Given the description of an element on the screen output the (x, y) to click on. 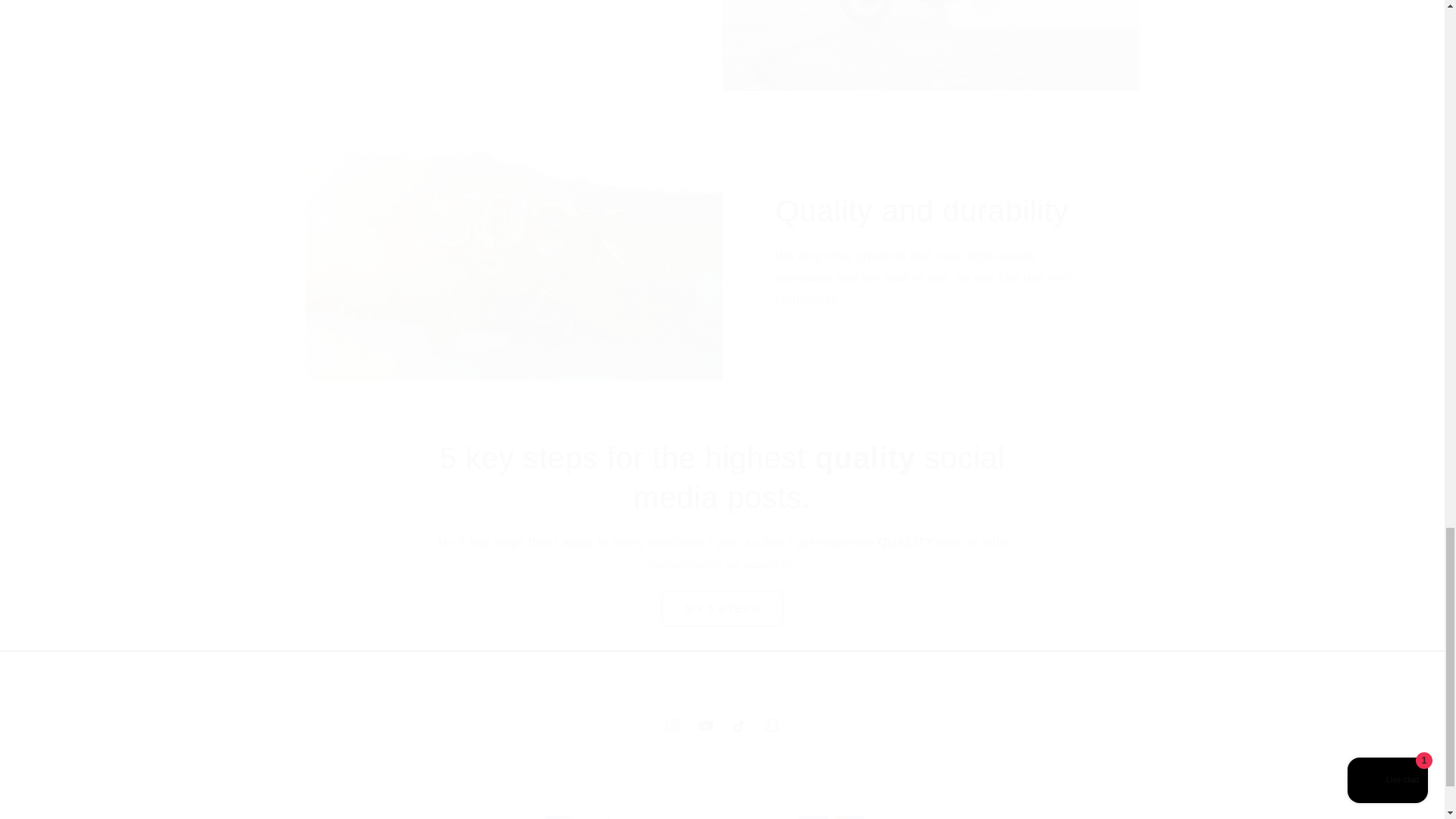
Snapchat (772, 725)
Instagram (671, 725)
MY 5 STEPS (722, 608)
MY 5 STEPS (721, 608)
YouTube (721, 725)
5 key steps for the highest quality social media posts. (705, 725)
TikTok (721, 477)
